Given the description of an element on the screen output the (x, y) to click on. 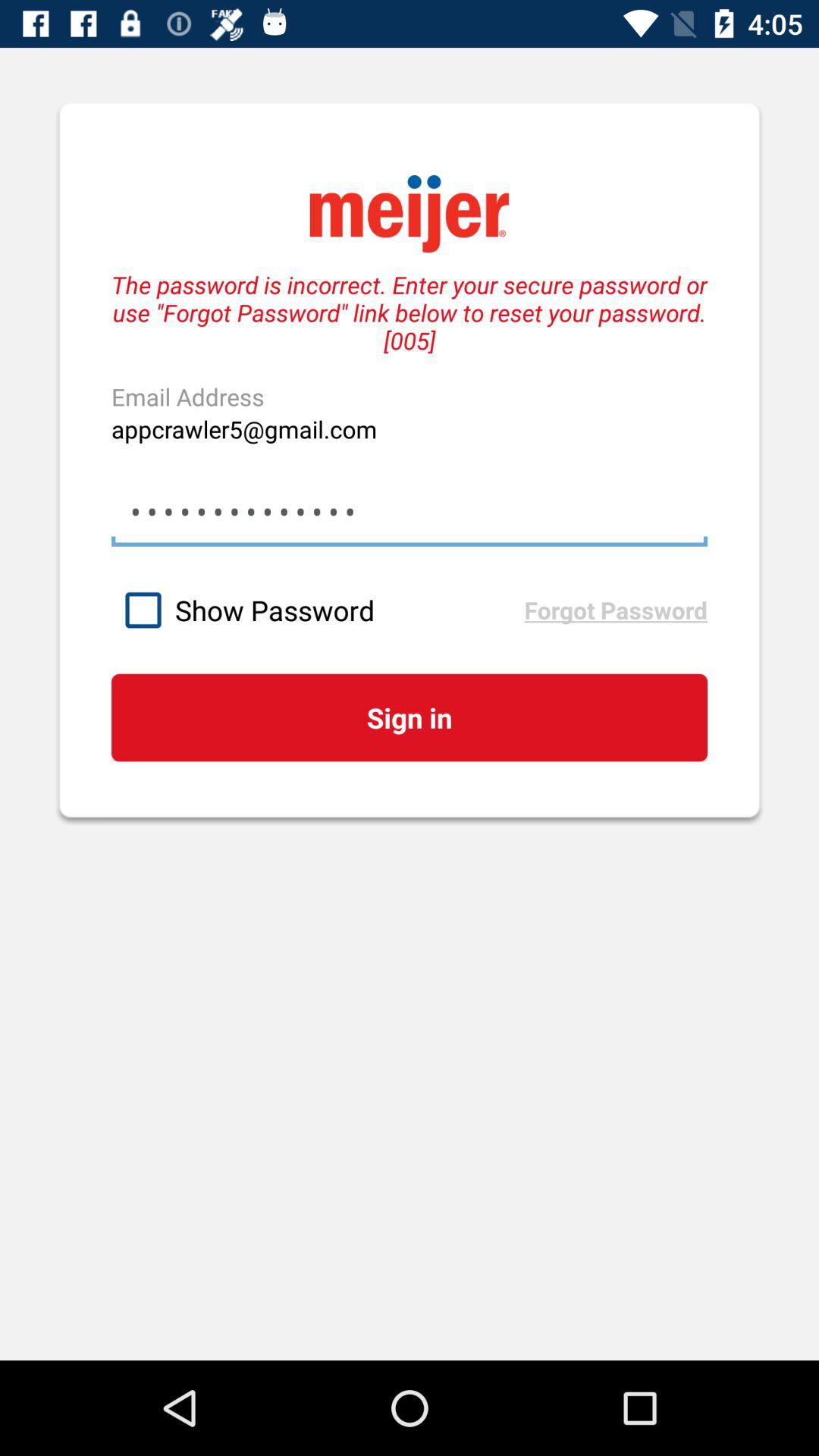
open the icon above the sign in item (317, 610)
